Given the description of an element on the screen output the (x, y) to click on. 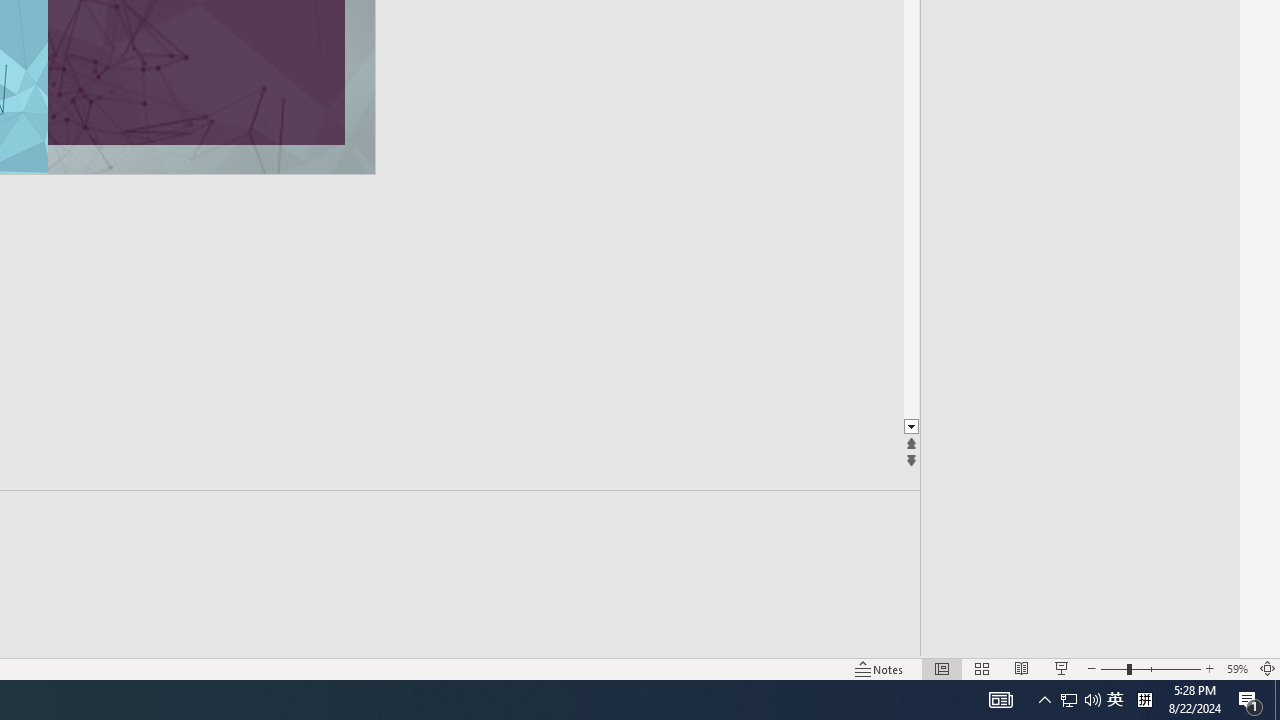
Zoom 59% (1236, 668)
